Given the description of an element on the screen output the (x, y) to click on. 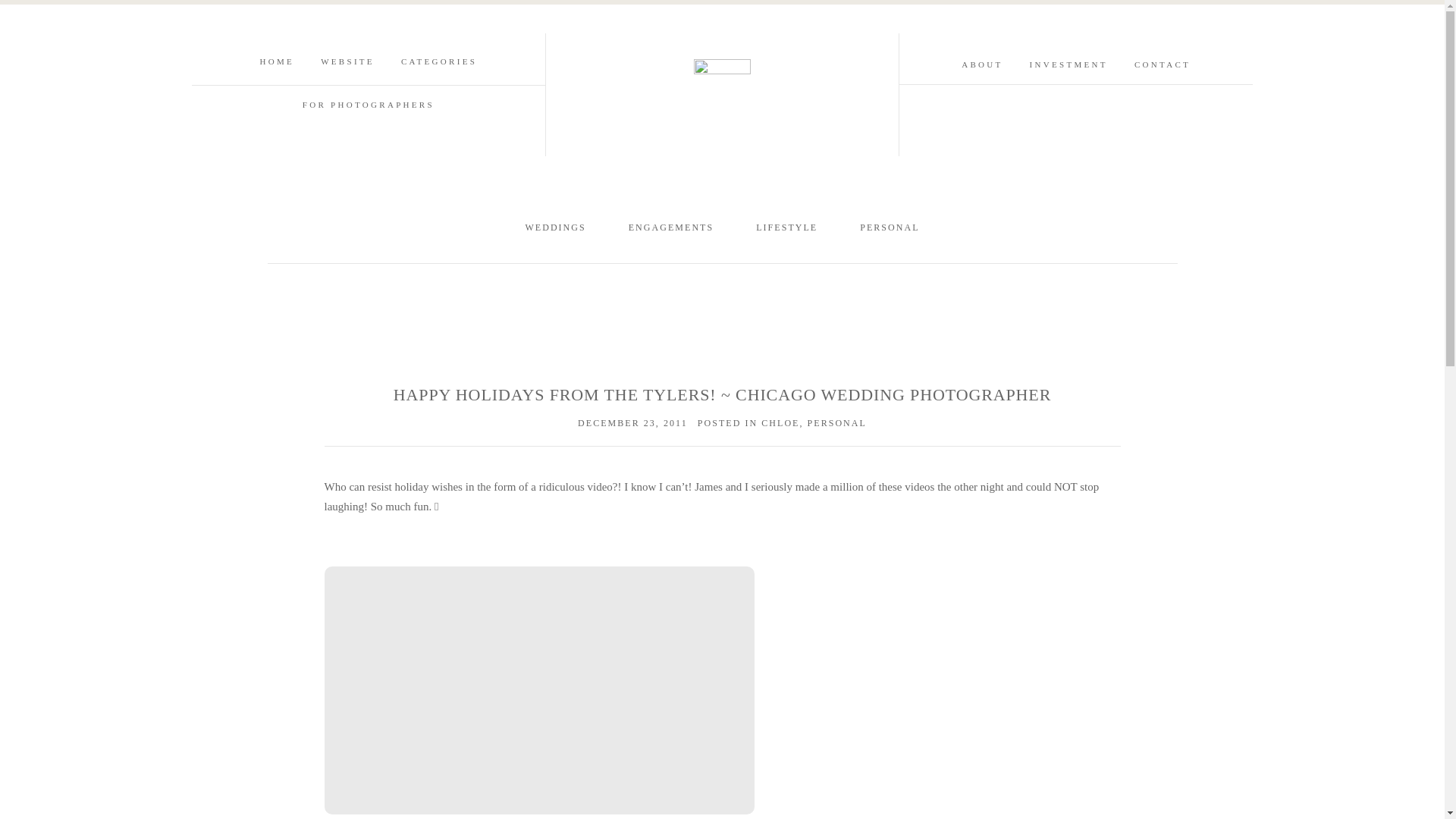
ABOUT (981, 63)
FOR PHOTOGRAPHERS (367, 103)
HOME (277, 61)
WEBSITE (347, 61)
